Given the description of an element on the screen output the (x, y) to click on. 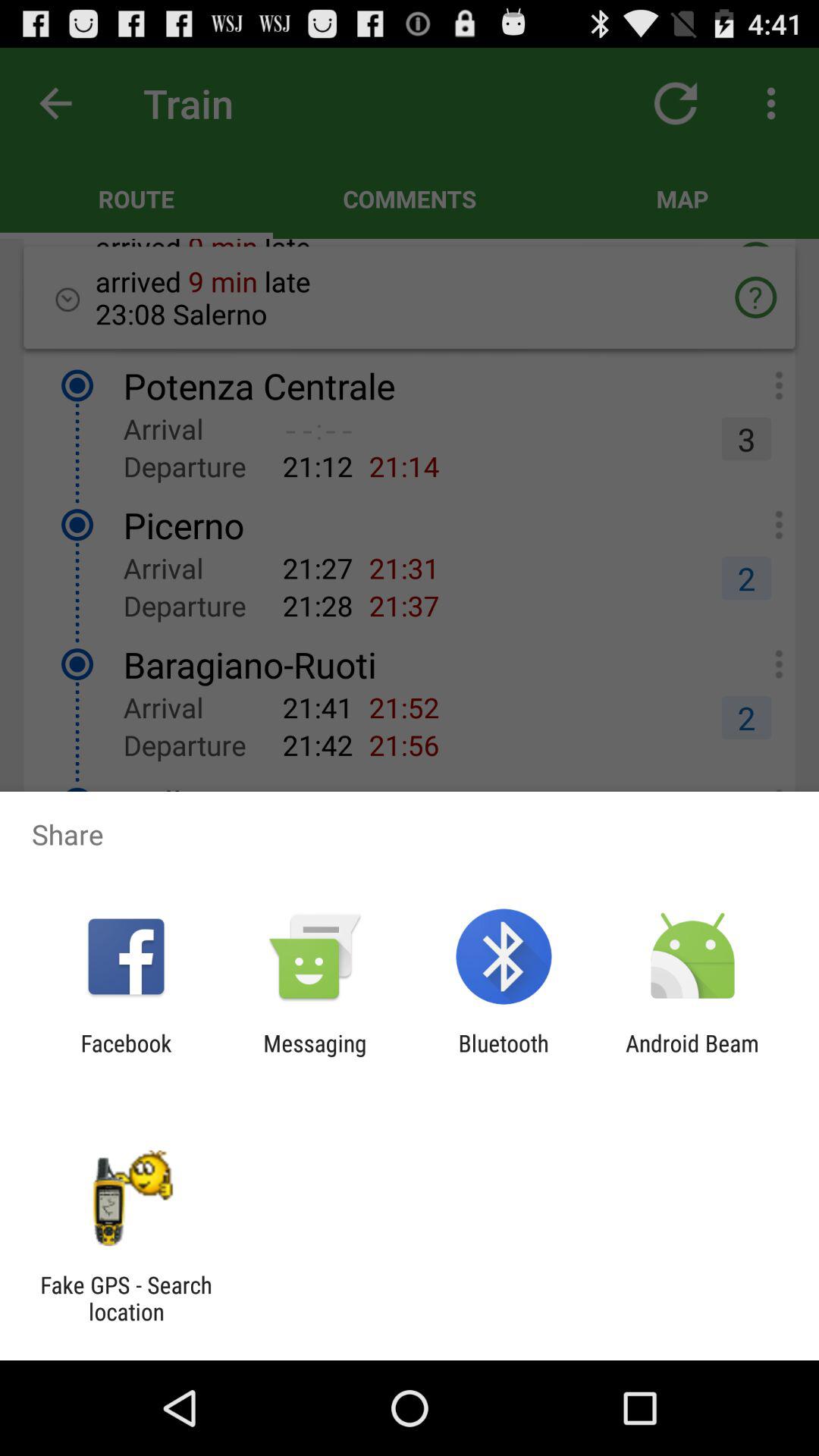
select item next to the android beam (503, 1056)
